Given the description of an element on the screen output the (x, y) to click on. 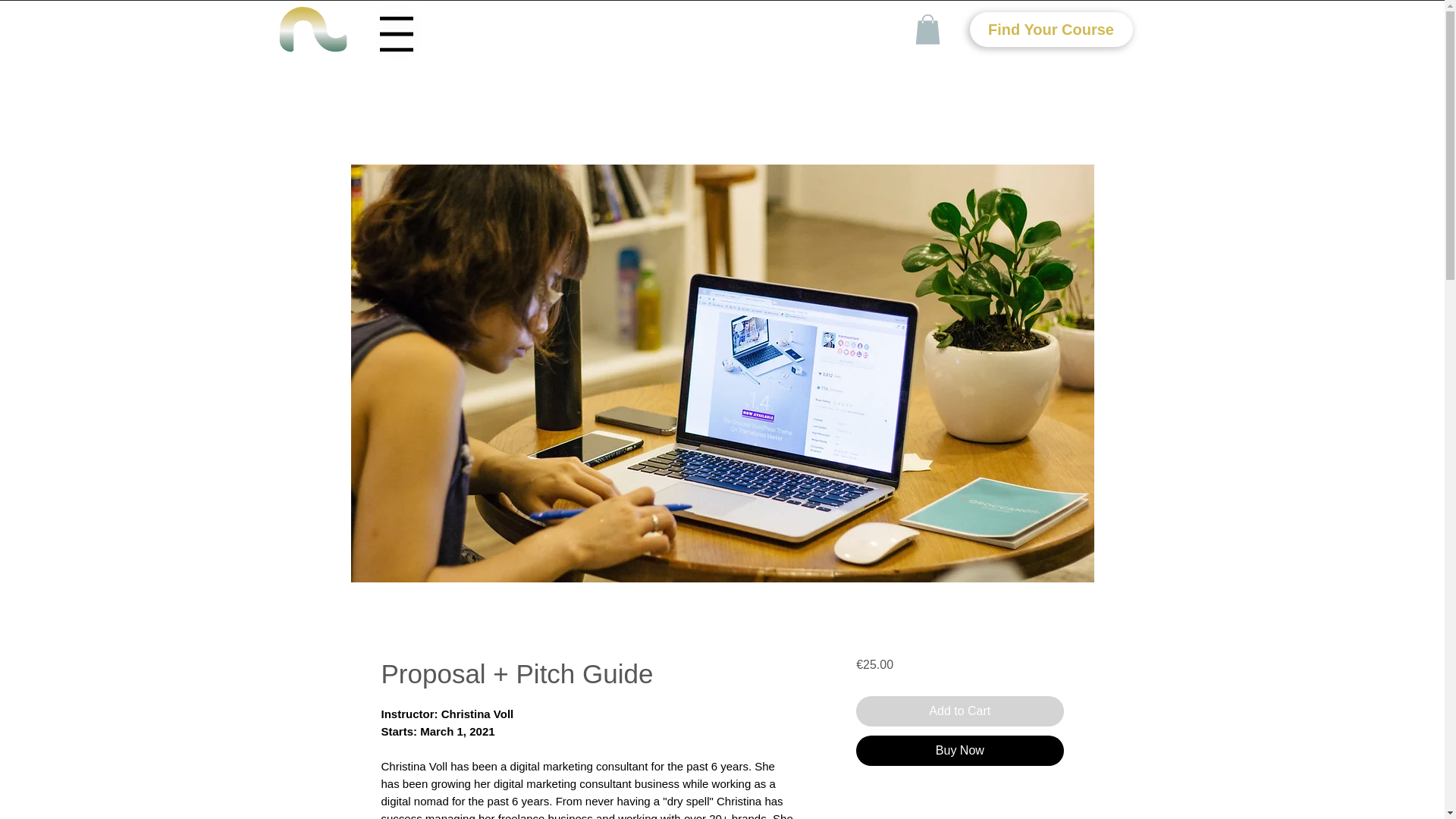
Buy Now (959, 750)
Add to Cart (959, 711)
Find Your Course (1050, 29)
